Given the description of an element on the screen output the (x, y) to click on. 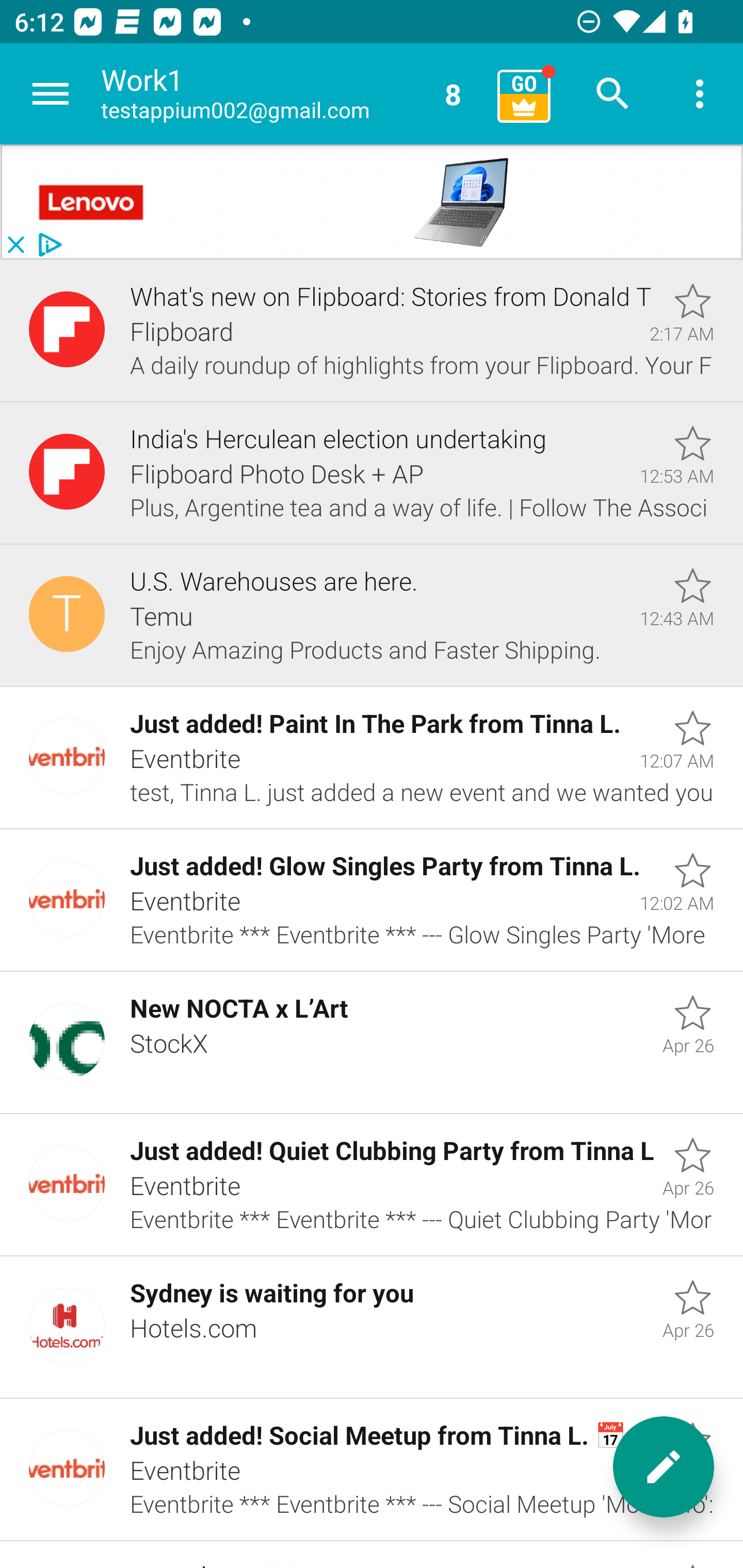
Navigate up (50, 93)
Work1 testappium002@gmail.com 8 (291, 93)
Search (612, 93)
More options (699, 93)
Unread, New NOCTA x L’Art, StockX, Apr 26 (371, 1043)
New message (663, 1466)
